Given the description of an element on the screen output the (x, y) to click on. 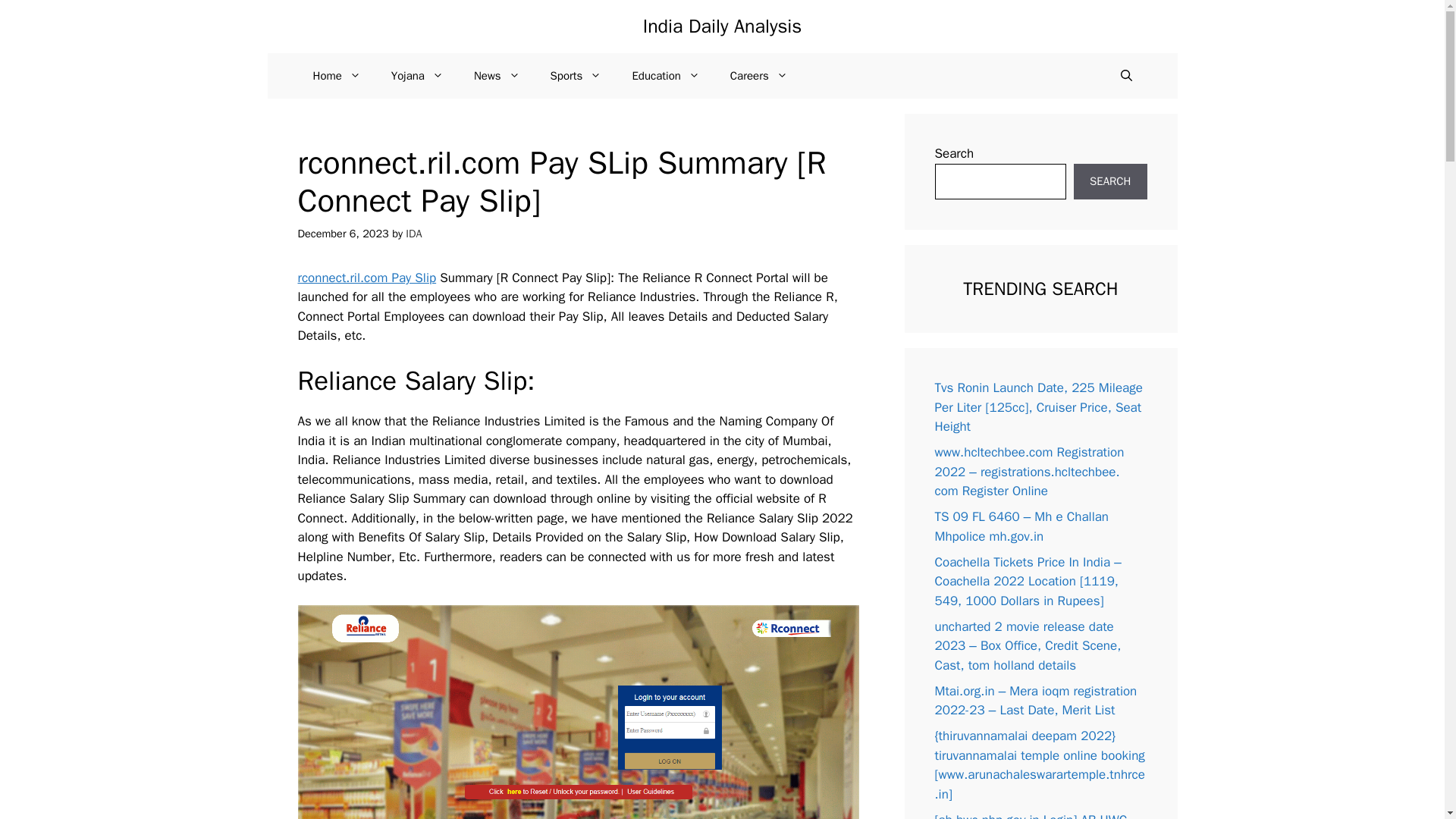
View all posts by IDA (414, 233)
Home (336, 75)
News (496, 75)
India Daily Analysis (722, 25)
Education (664, 75)
Sports (576, 75)
Yojana (416, 75)
